Given the description of an element on the screen output the (x, y) to click on. 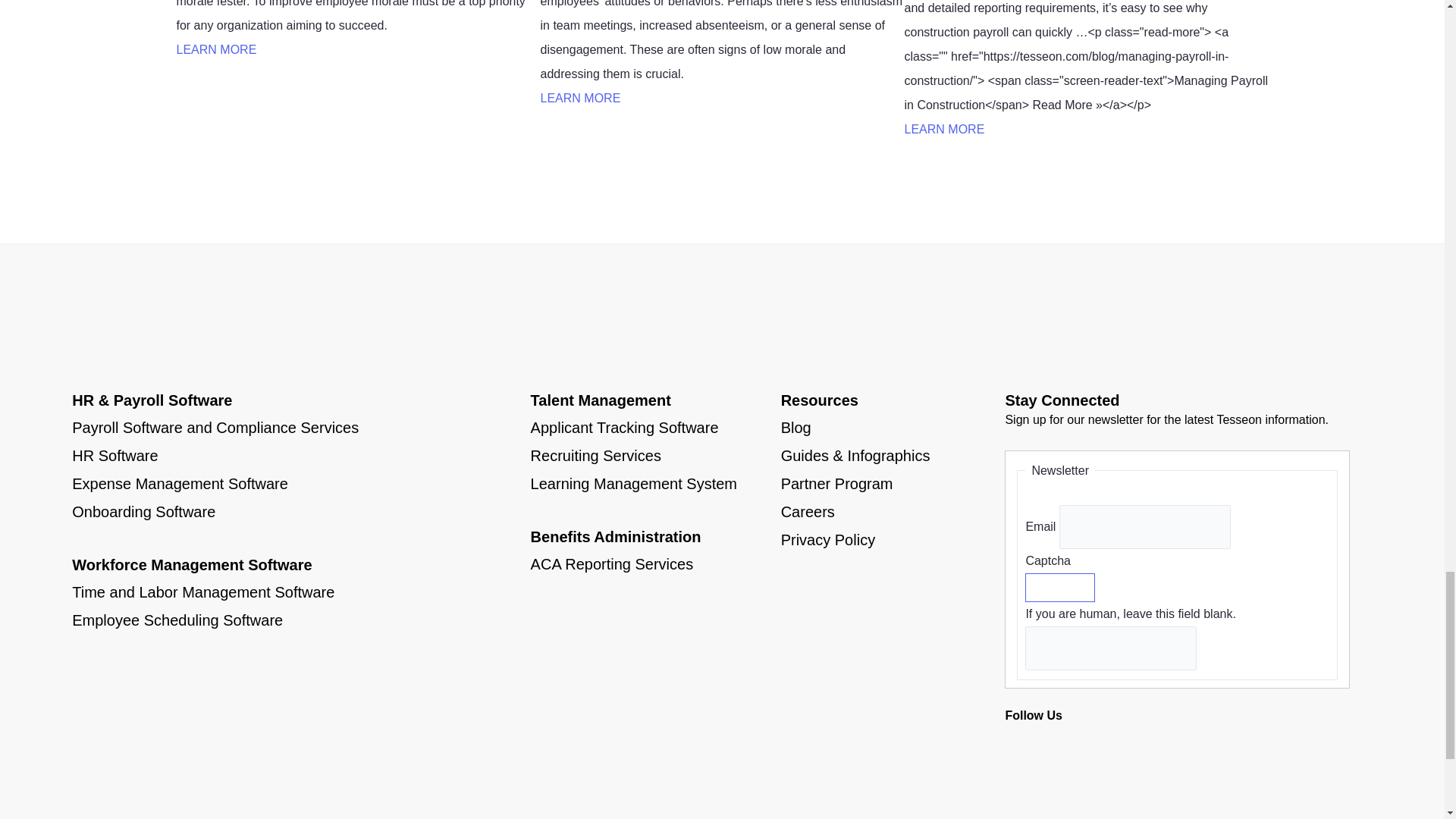
Managing Payroll in Construction (944, 128)
10 Ways to Improve Employee Morale Without Breaking the Bank (216, 49)
Facebook (1018, 744)
LinkedIn (1063, 744)
Tesseon logo (177, 307)
Benefits Administration (616, 536)
